Given the description of an element on the screen output the (x, y) to click on. 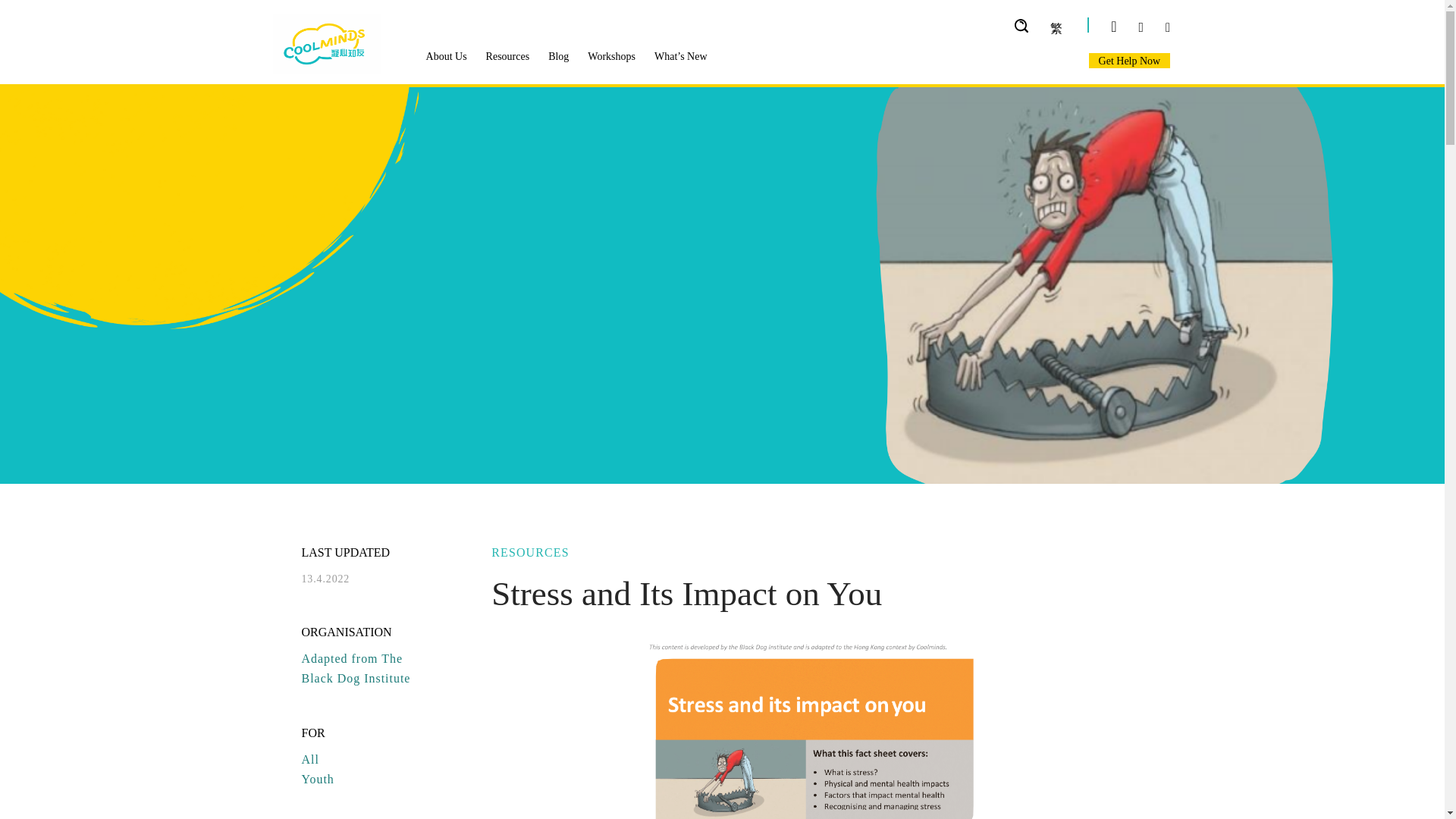
Blog (558, 56)
Get Help Now (1129, 60)
About Us (446, 56)
RESOURCES (817, 552)
Workshops (611, 56)
P.1 (817, 719)
Stress and Its Impact on You (817, 593)
Resources (507, 56)
